Given the description of an element on the screen output the (x, y) to click on. 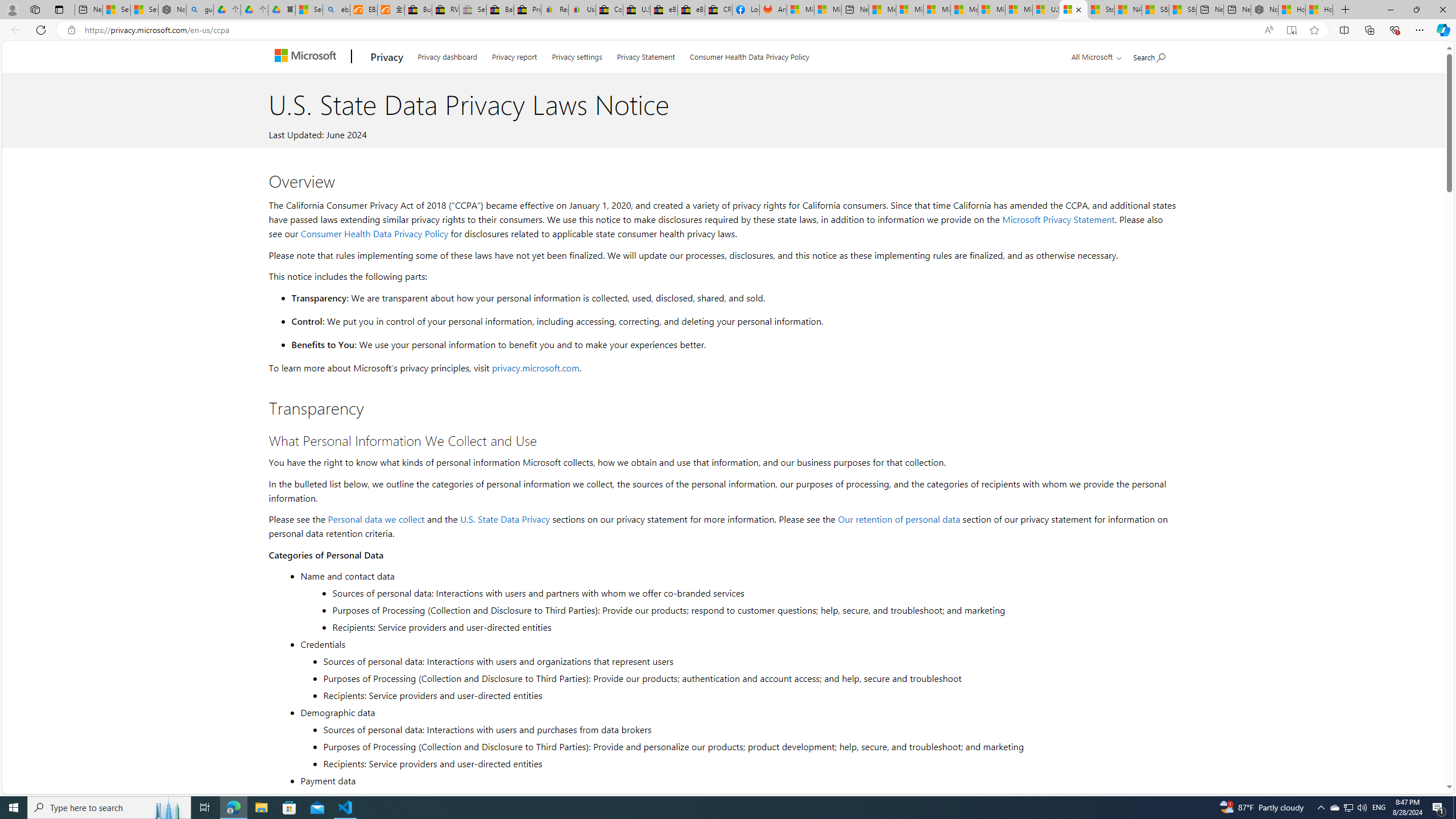
View site information (70, 29)
Microsoft Privacy Statement (1058, 218)
eBay Inc. Reports Third Quarter 2023 Results (691, 9)
U.S. State Data Privacy (505, 518)
Log into Facebook (746, 9)
Search Microsoft.com (1149, 54)
